Given the description of an element on the screen output the (x, y) to click on. 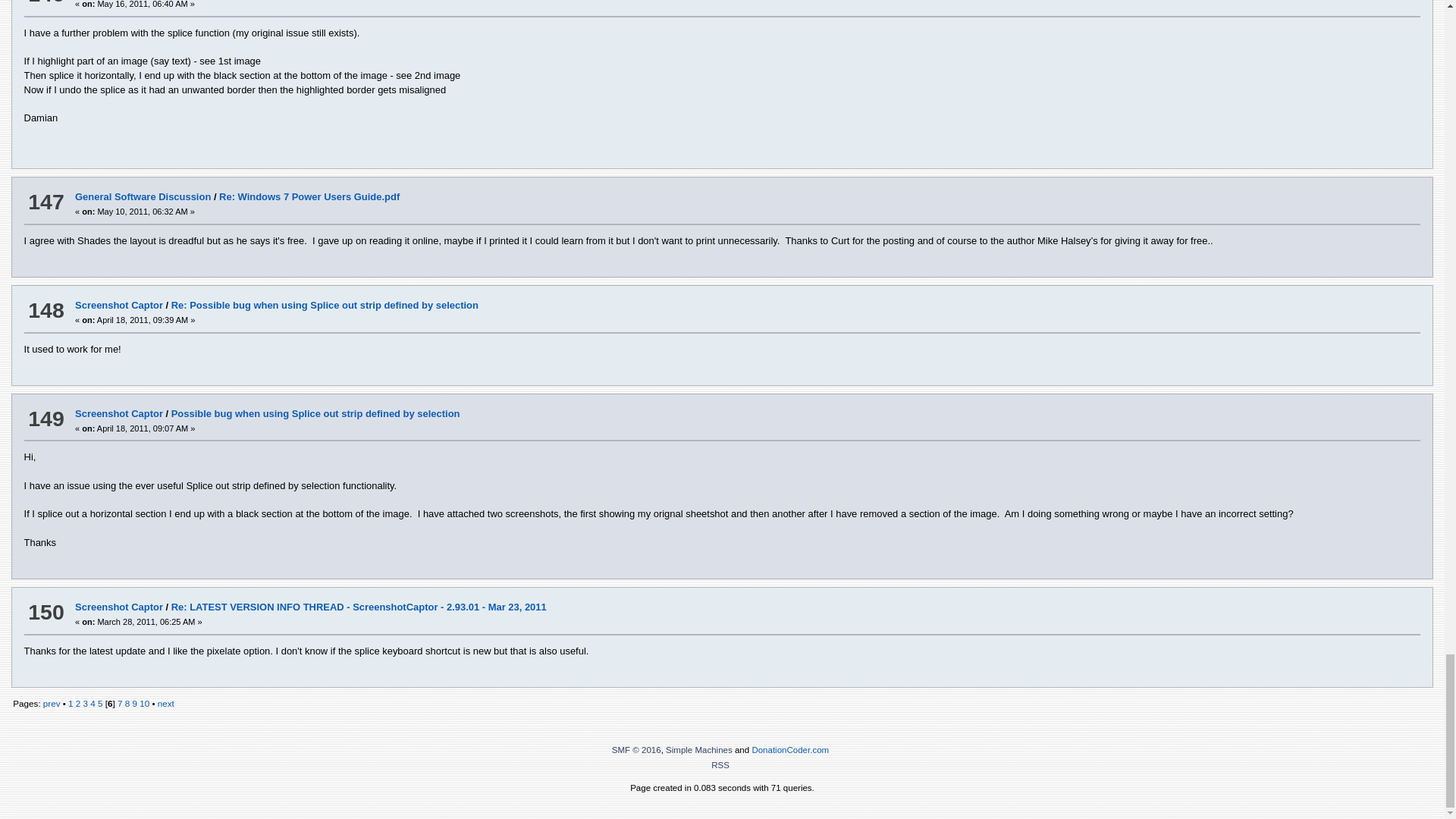
License (636, 749)
Simple Machines (698, 749)
